Given the description of an element on the screen output the (x, y) to click on. 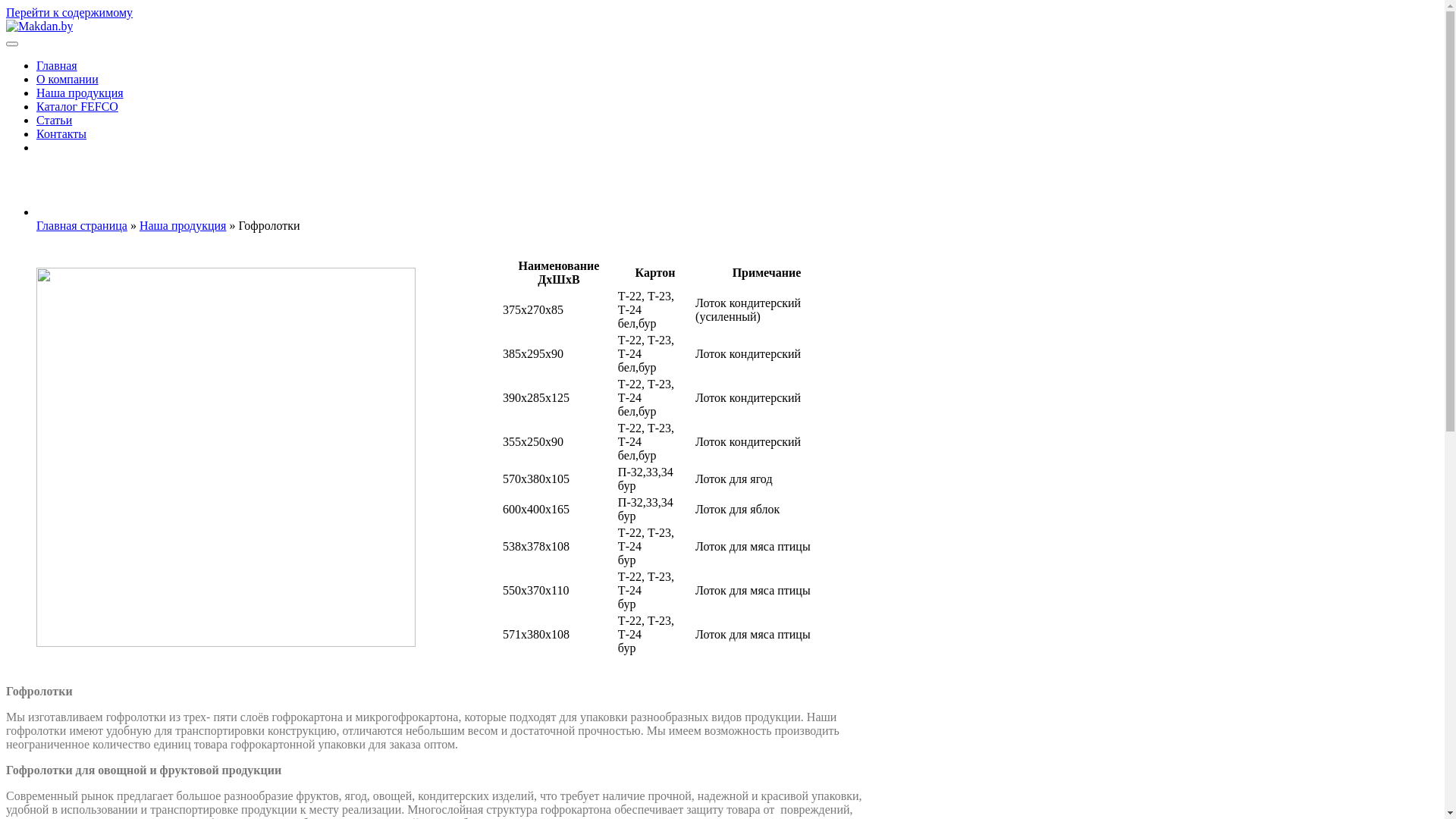
Makdan.by Element type: text (50, 58)
